Given the description of an element on the screen output the (x, y) to click on. 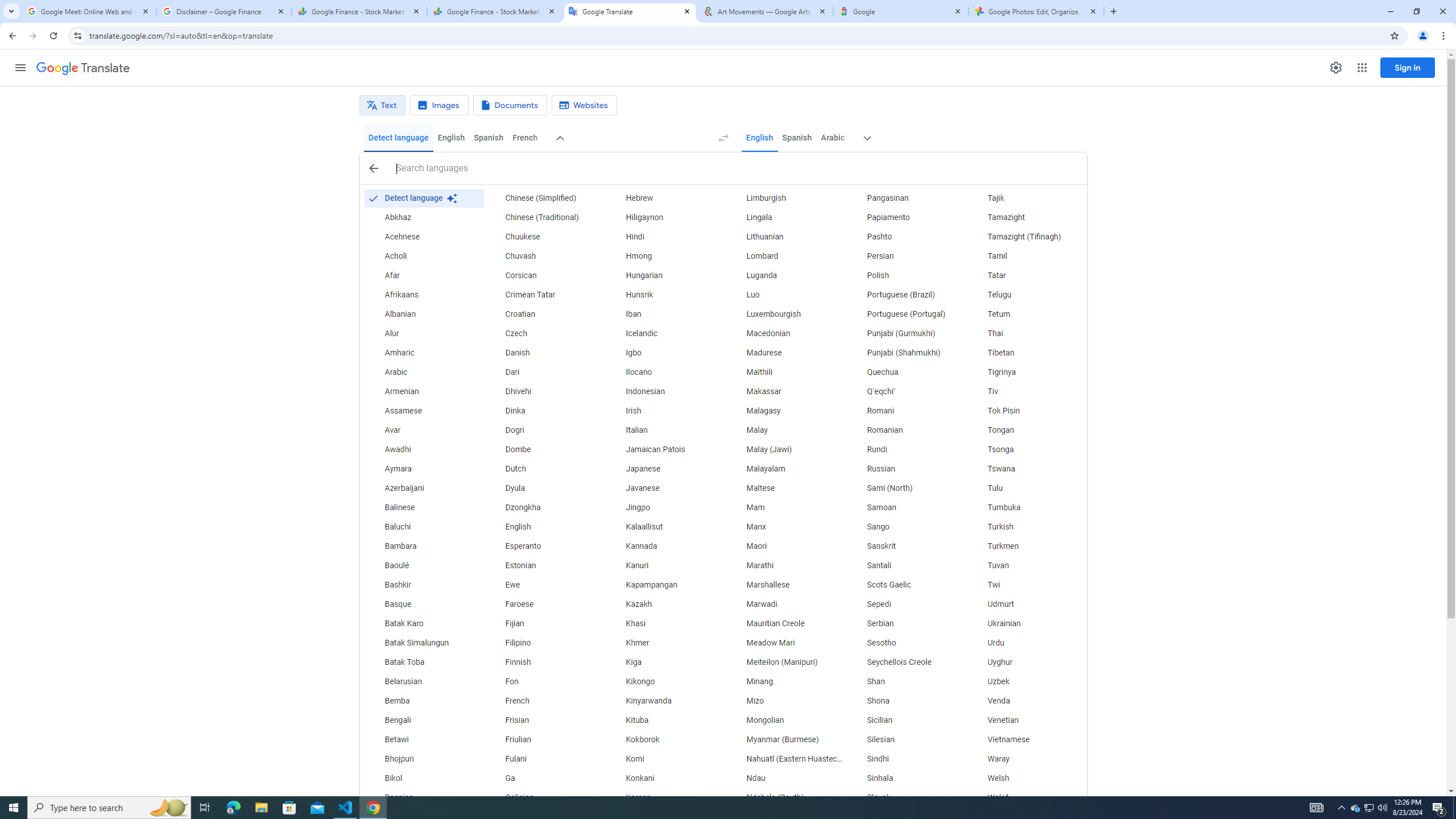
Crimean Tatar (544, 294)
Kanuri (665, 565)
Tiv (1026, 391)
Sanskrit (905, 546)
English (544, 527)
Kokborok (665, 739)
Mauritian Creole (785, 624)
Chuvash (544, 256)
Afar (423, 275)
French (544, 701)
Thai (1026, 334)
Balinese (423, 507)
Finnish (544, 662)
Chinese (Simplified) (544, 198)
Belarusian (423, 682)
